Given the description of an element on the screen output the (x, y) to click on. 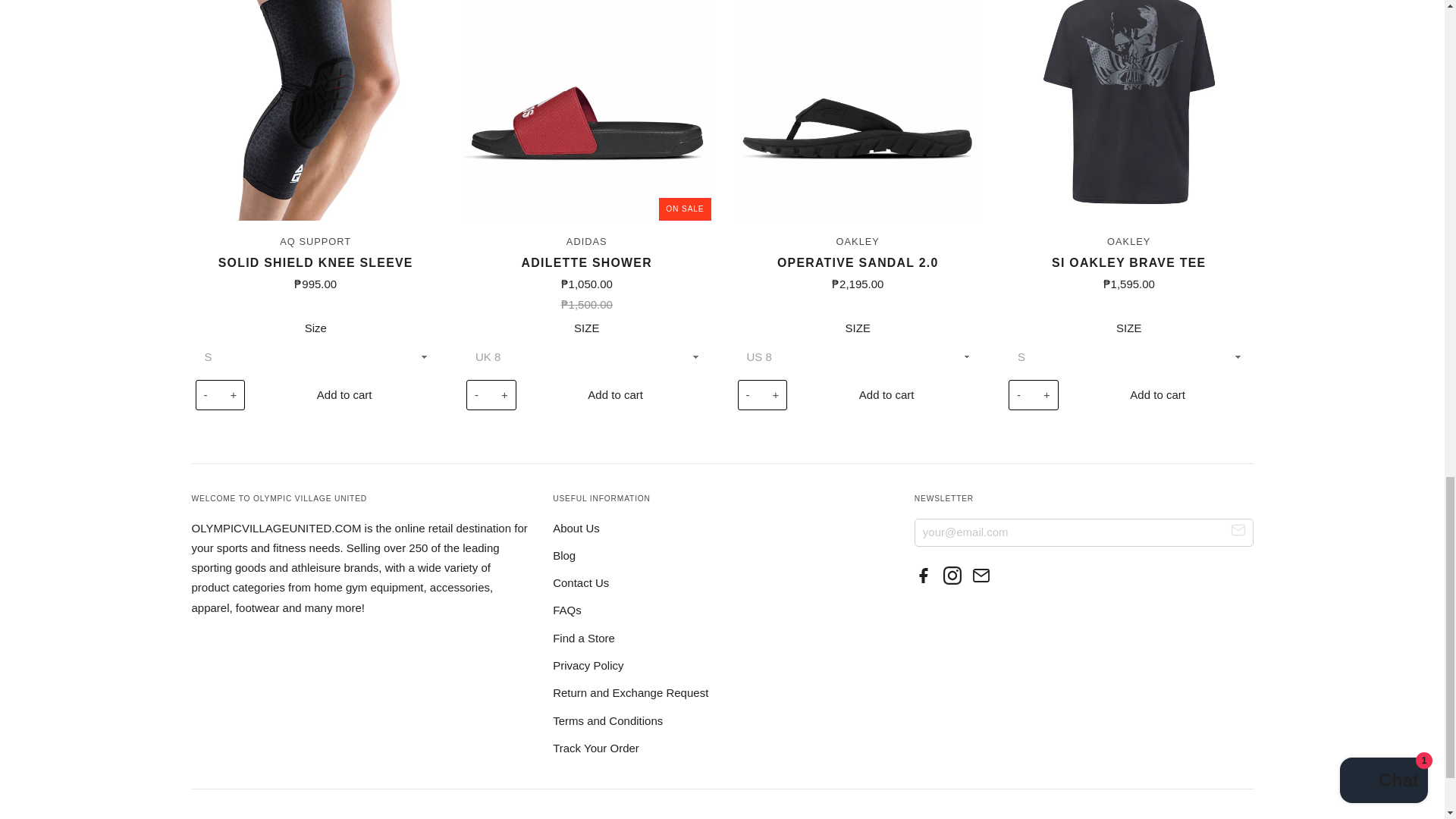
ADIDAS (586, 241)
AQ SUPPORT (314, 241)
OAKLEY (1128, 241)
OAKLEY (857, 241)
